Given the description of an element on the screen output the (x, y) to click on. 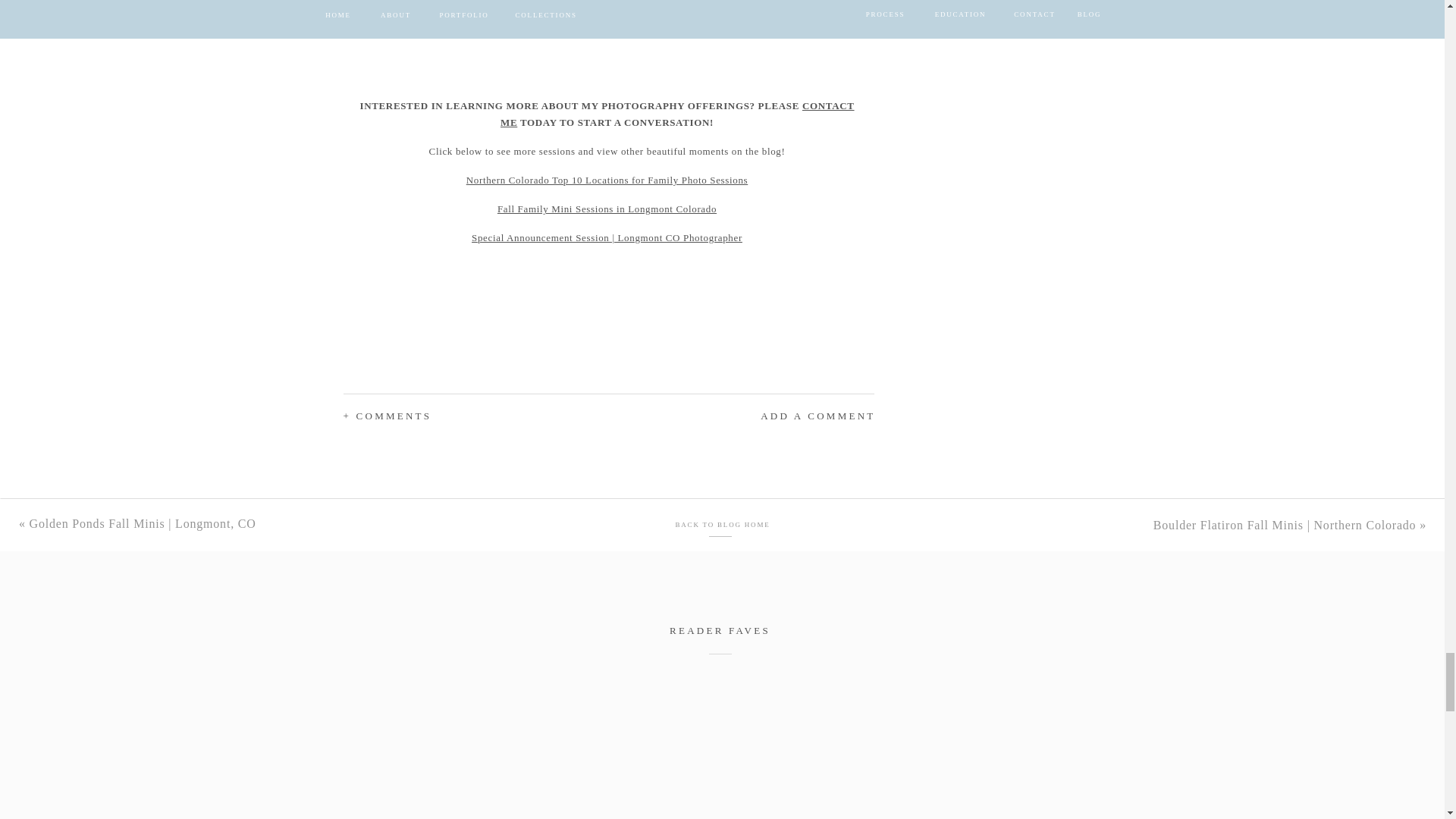
Northern Colorado Top 10 Locations for Family Photo Sessions (606, 179)
Capturing Joy: A Highlands Ranch Gender Reveal (433, 751)
ADD A COMMENT (776, 416)
CONTACT ME (677, 113)
Fall Family Mini Sessions in Longmont Colorado (606, 208)
